Given the description of an element on the screen output the (x, y) to click on. 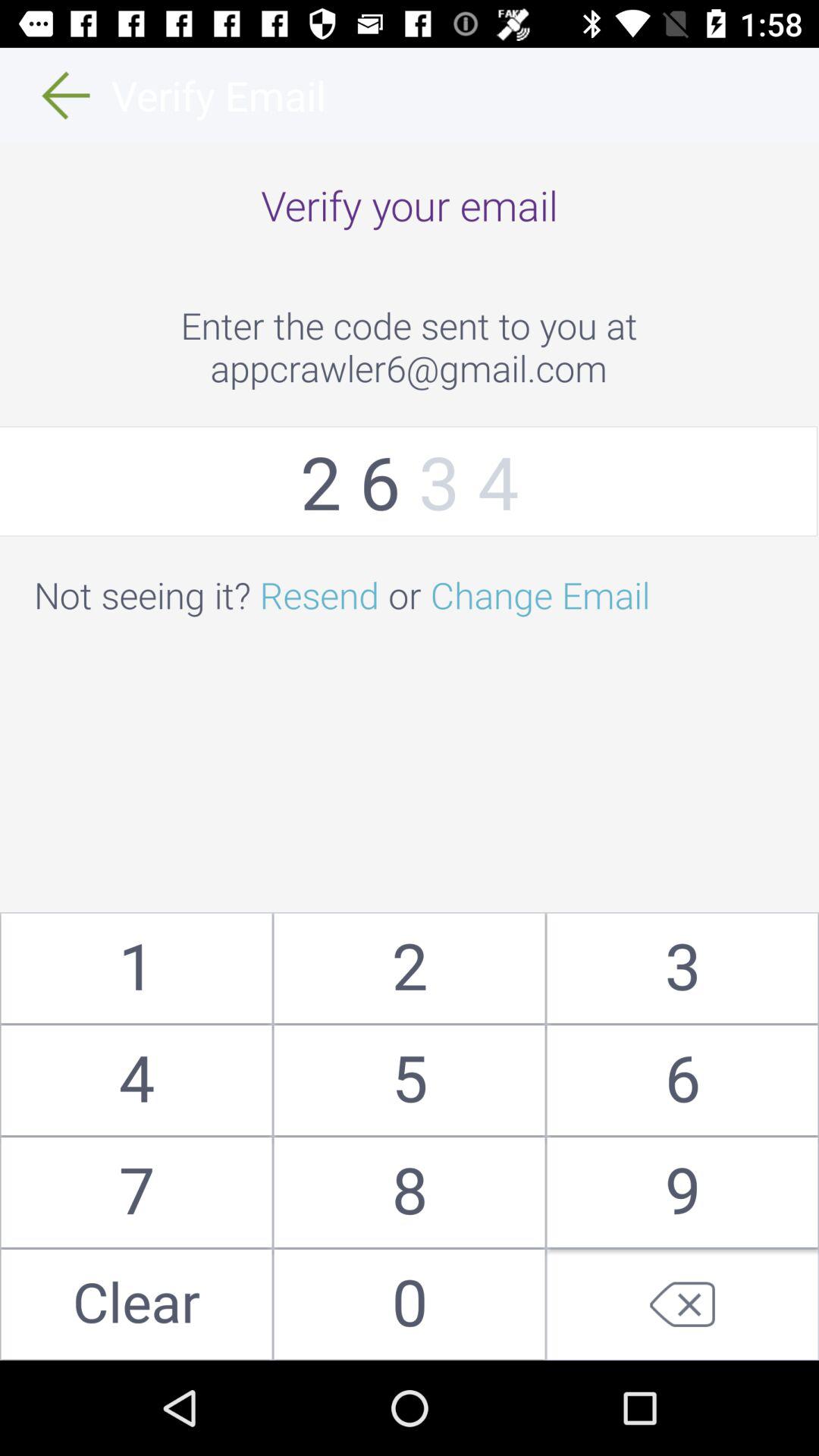
delete last input (682, 1304)
